Given the description of an element on the screen output the (x, y) to click on. 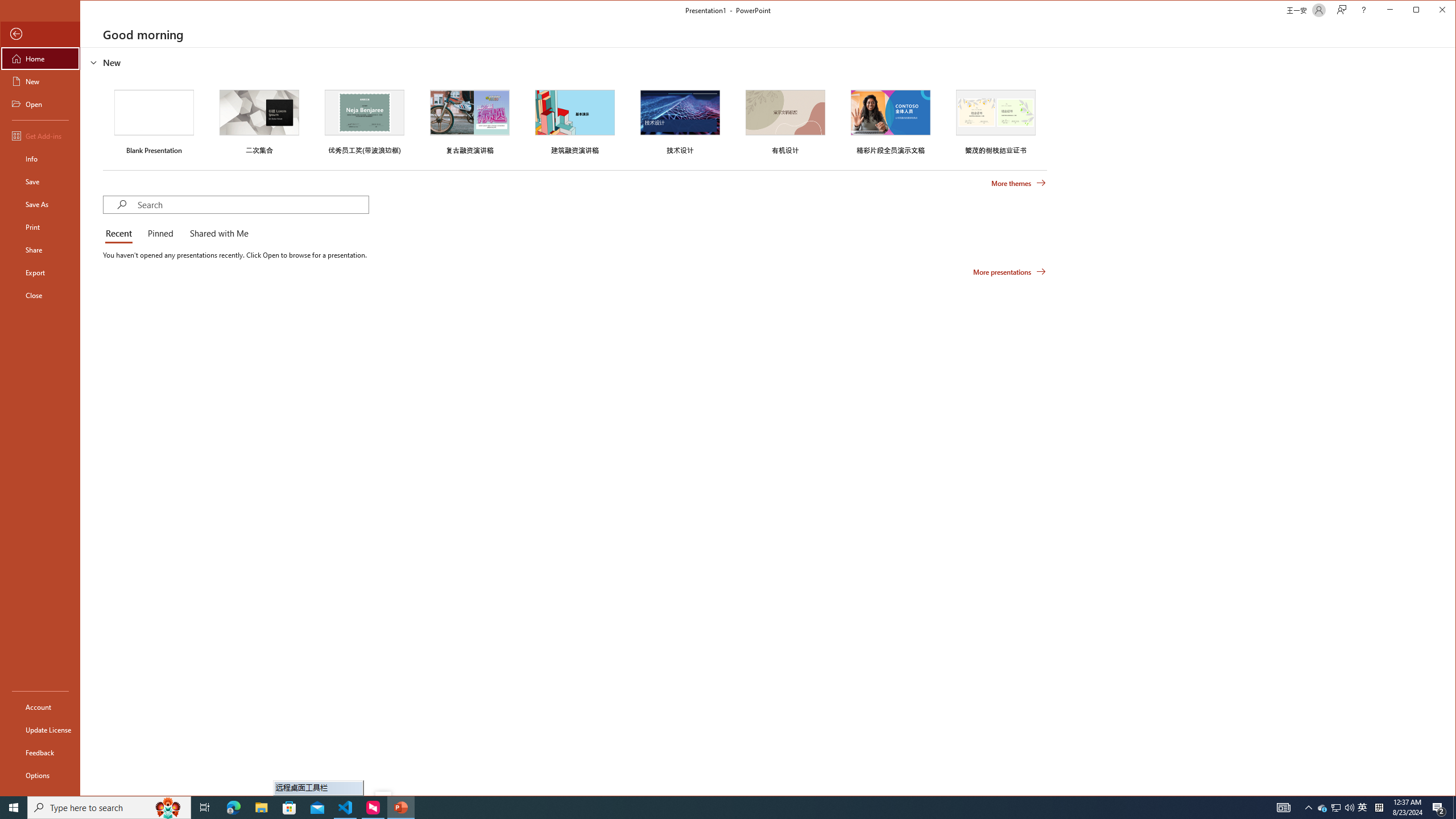
Get Add-ins (40, 135)
Shared with Me (216, 234)
Feedback (40, 752)
